Given the description of an element on the screen output the (x, y) to click on. 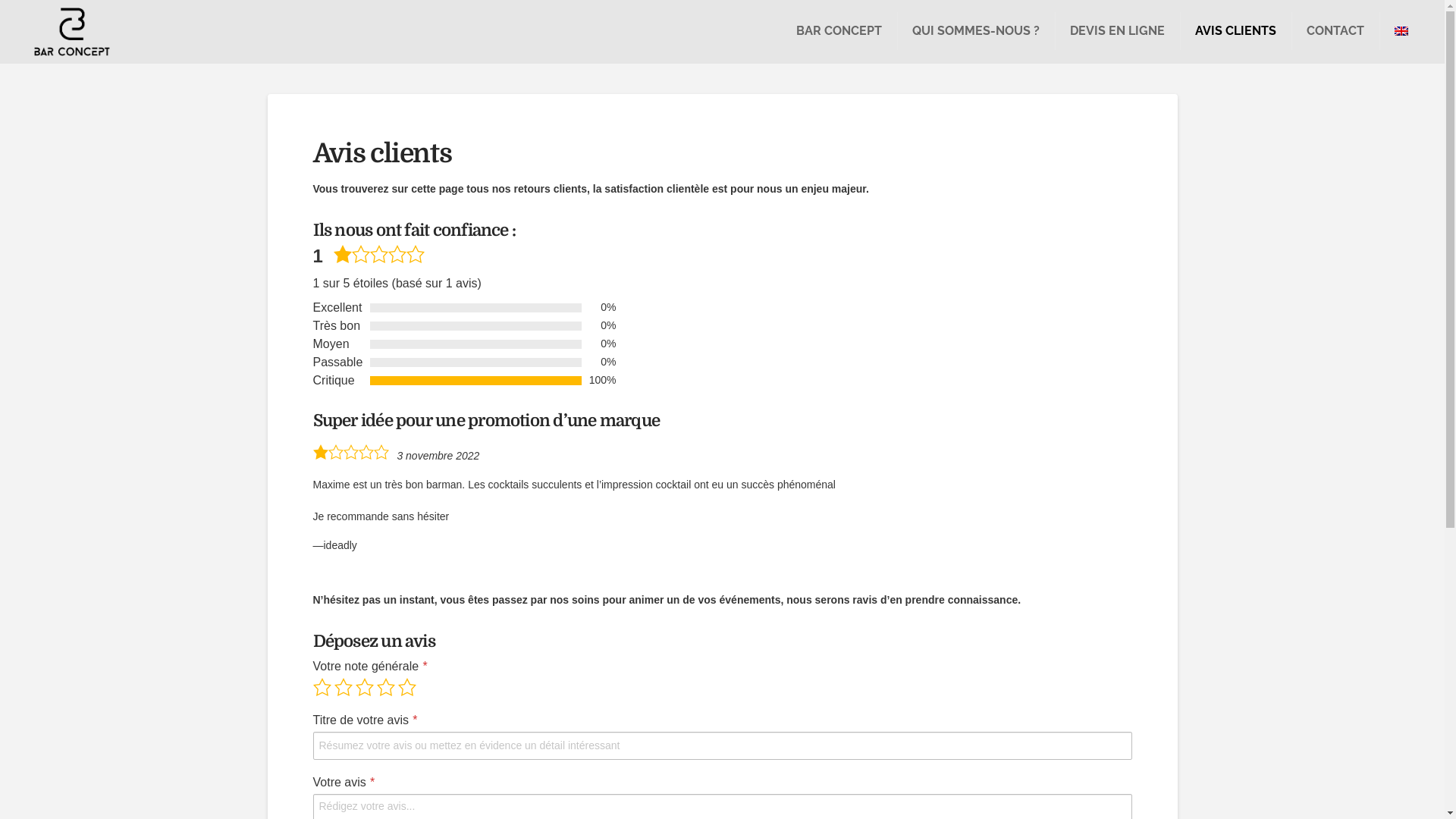
BAR CONCEPT Element type: text (839, 31)
QUI SOMMES-NOUS ? Element type: text (975, 31)
DEVIS EN LIGNE Element type: text (1116, 31)
CONTACT Element type: text (1335, 31)
AVIS CLIENTS Element type: text (1235, 31)
